Given the description of an element on the screen output the (x, y) to click on. 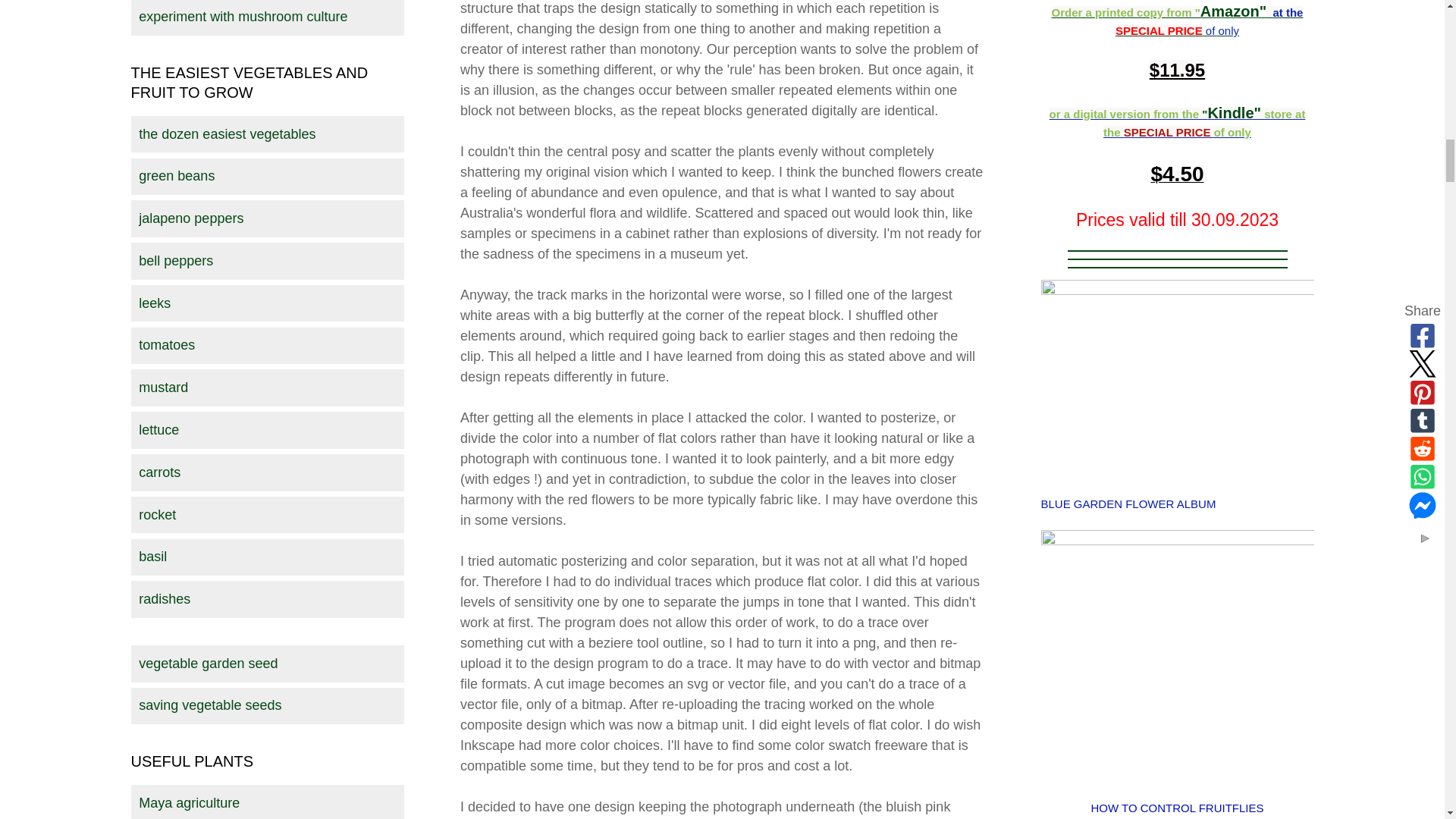
Go to blue flowers (1177, 290)
Go to fruit fly control (1177, 540)
